Given the description of an element on the screen output the (x, y) to click on. 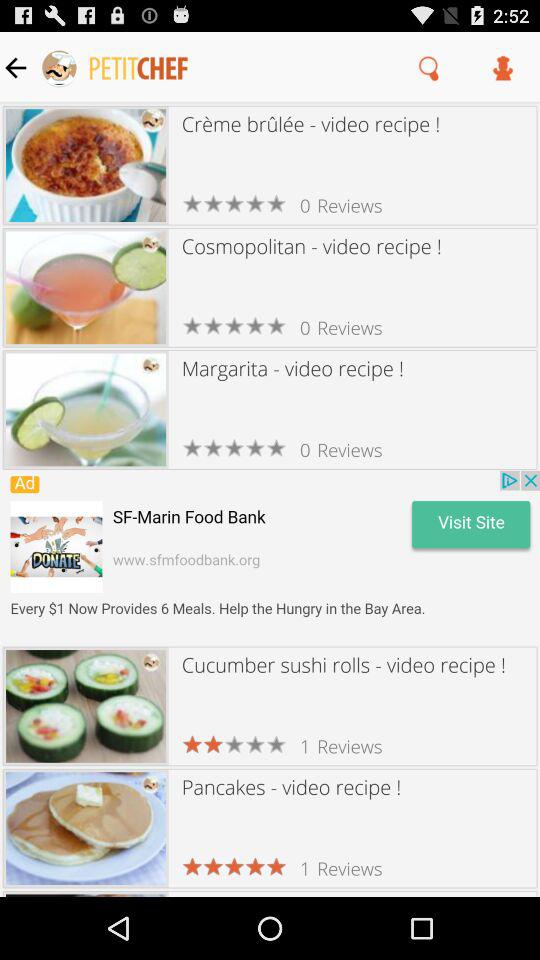
click on the second image from the top of the page (85, 287)
click on the left top corner logo right to the left arrow (115, 67)
click on search icon (430, 67)
